Given the description of an element on the screen output the (x, y) to click on. 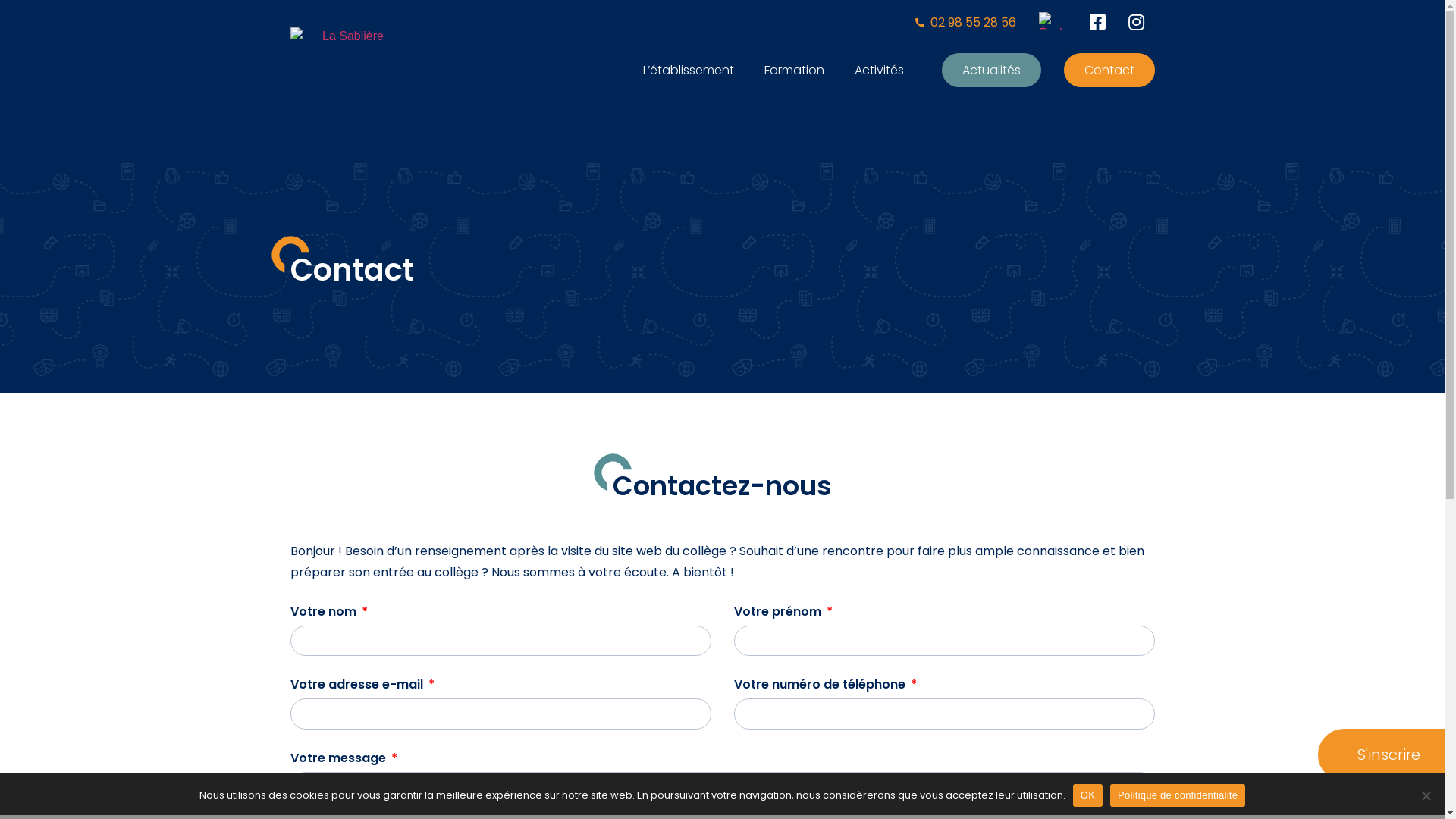
Non Element type: hover (1425, 795)
02 98 55 28 56 Element type: text (964, 22)
OK Element type: text (1087, 795)
Contact Element type: text (1108, 70)
S'inscrire Element type: text (1380, 754)
Formation Element type: text (794, 69)
